Given the description of an element on the screen output the (x, y) to click on. 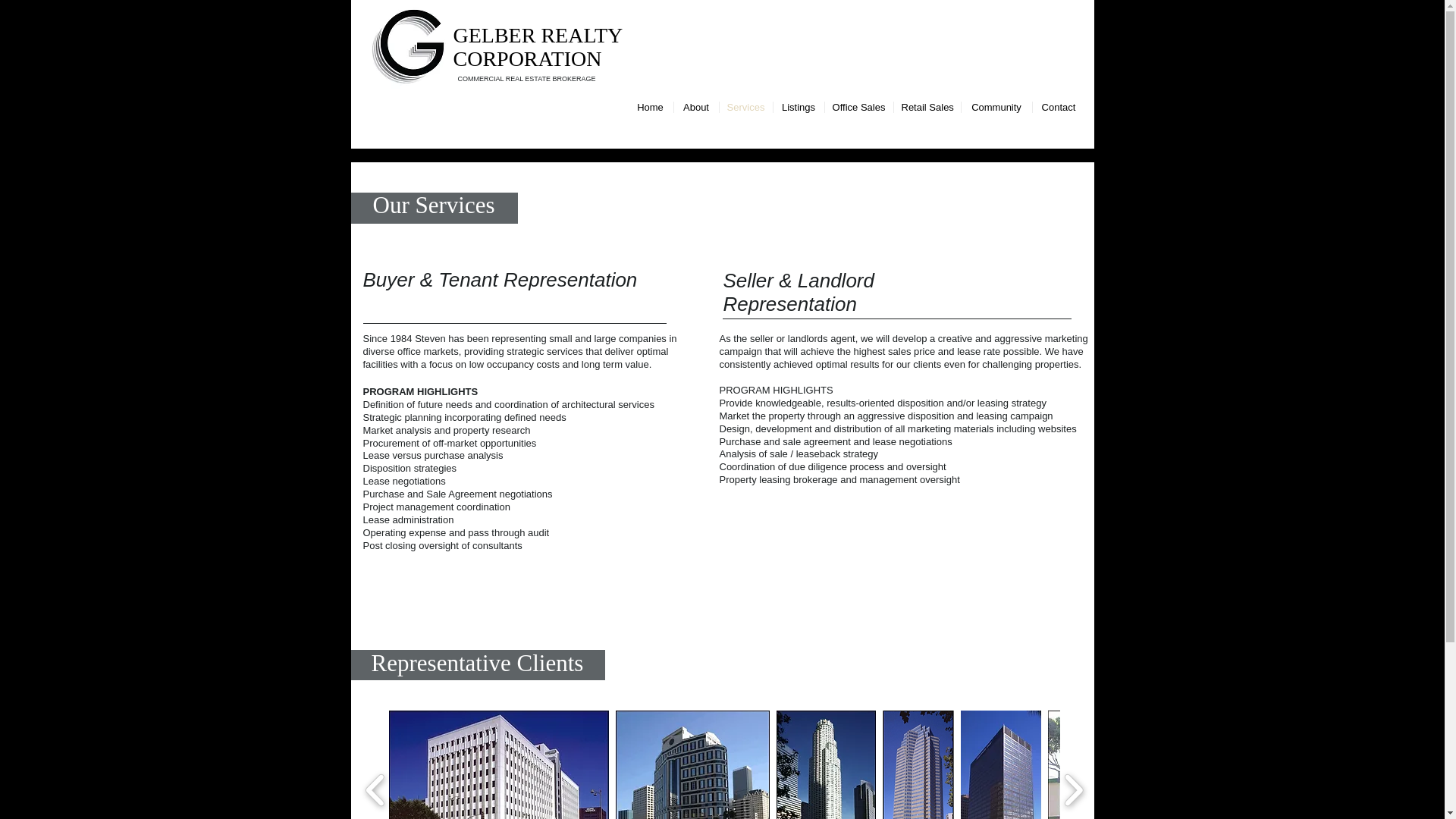
Services (745, 107)
Contact (1058, 107)
Office Sales (859, 107)
Community (996, 107)
About (694, 107)
Retail Sales (926, 107)
Home (649, 107)
Listings (798, 107)
